Given the description of an element on the screen output the (x, y) to click on. 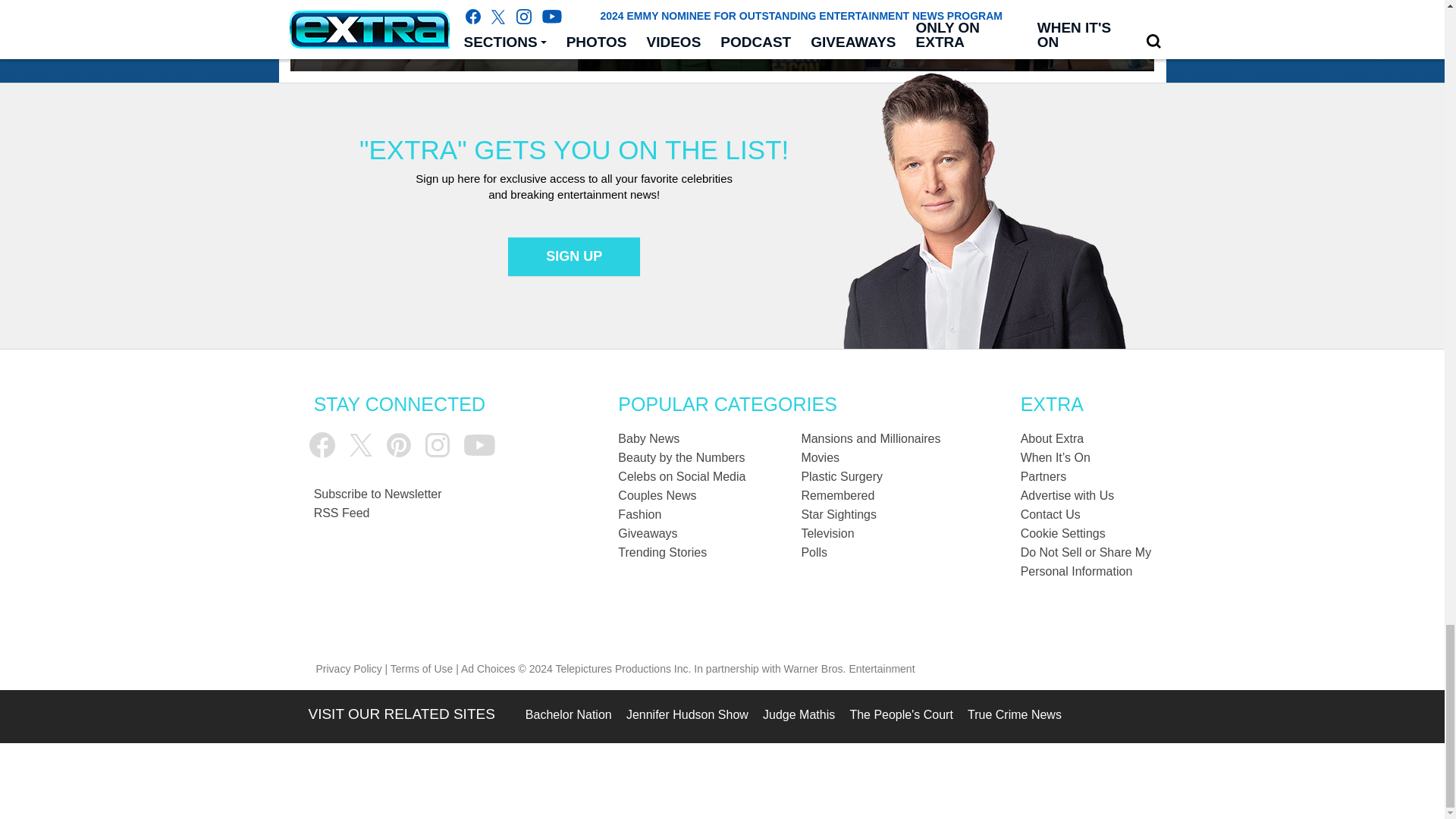
Instagram (437, 445)
Facebook (321, 444)
YouTube (479, 445)
Twitter (360, 445)
Pinterest (398, 445)
